Given the description of an element on the screen output the (x, y) to click on. 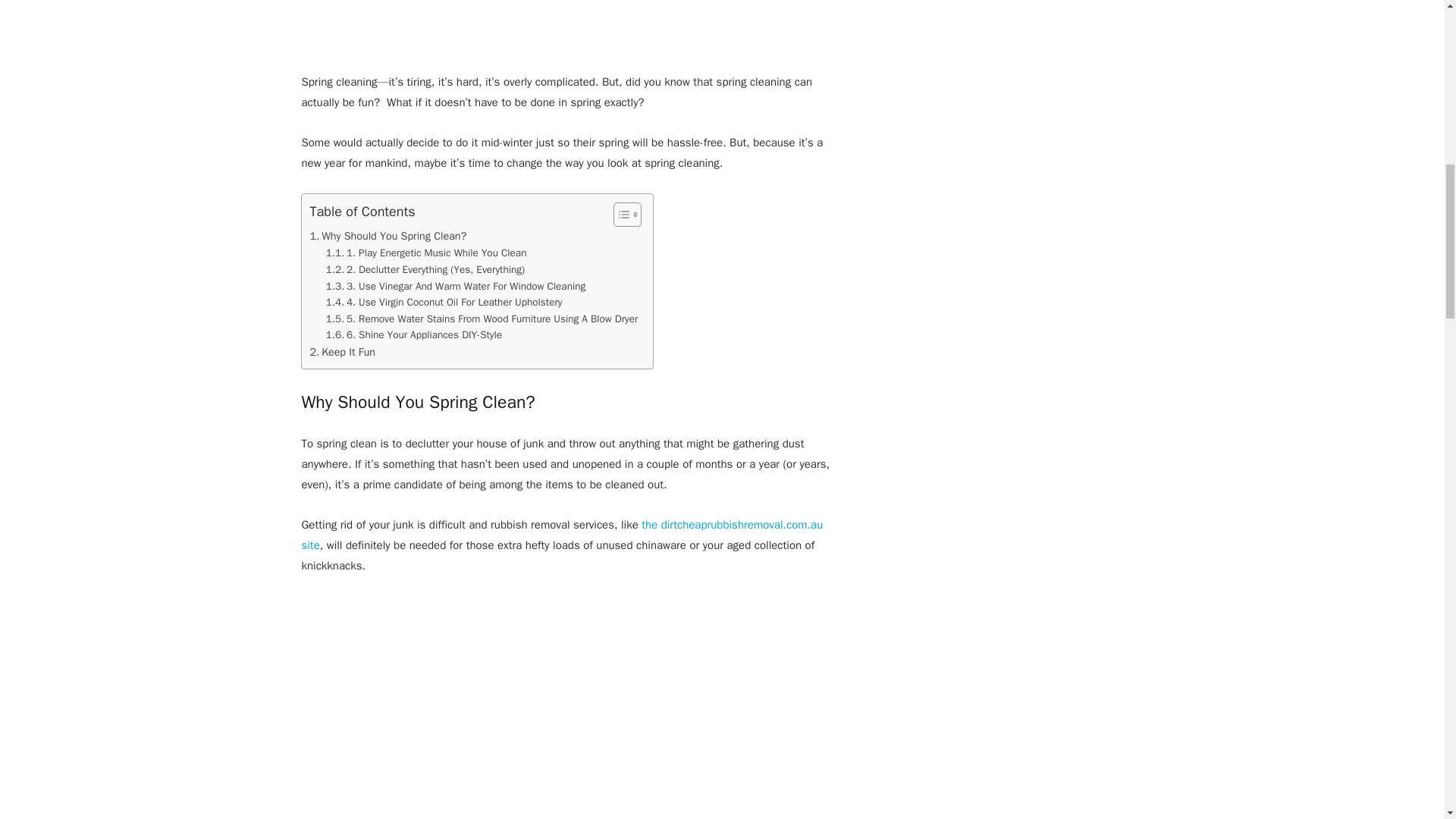
3. Use Vinegar And Warm Water For Window Cleaning (455, 285)
Keep It Fun (341, 352)
6. Shine Your Appliances DIY-Style (414, 334)
1. Play Energetic Music While You Clean (426, 252)
4. Use Virgin Coconut Oil For Leather Upholstery (444, 302)
Why Should You Spring Clean? (386, 235)
